Given the description of an element on the screen output the (x, y) to click on. 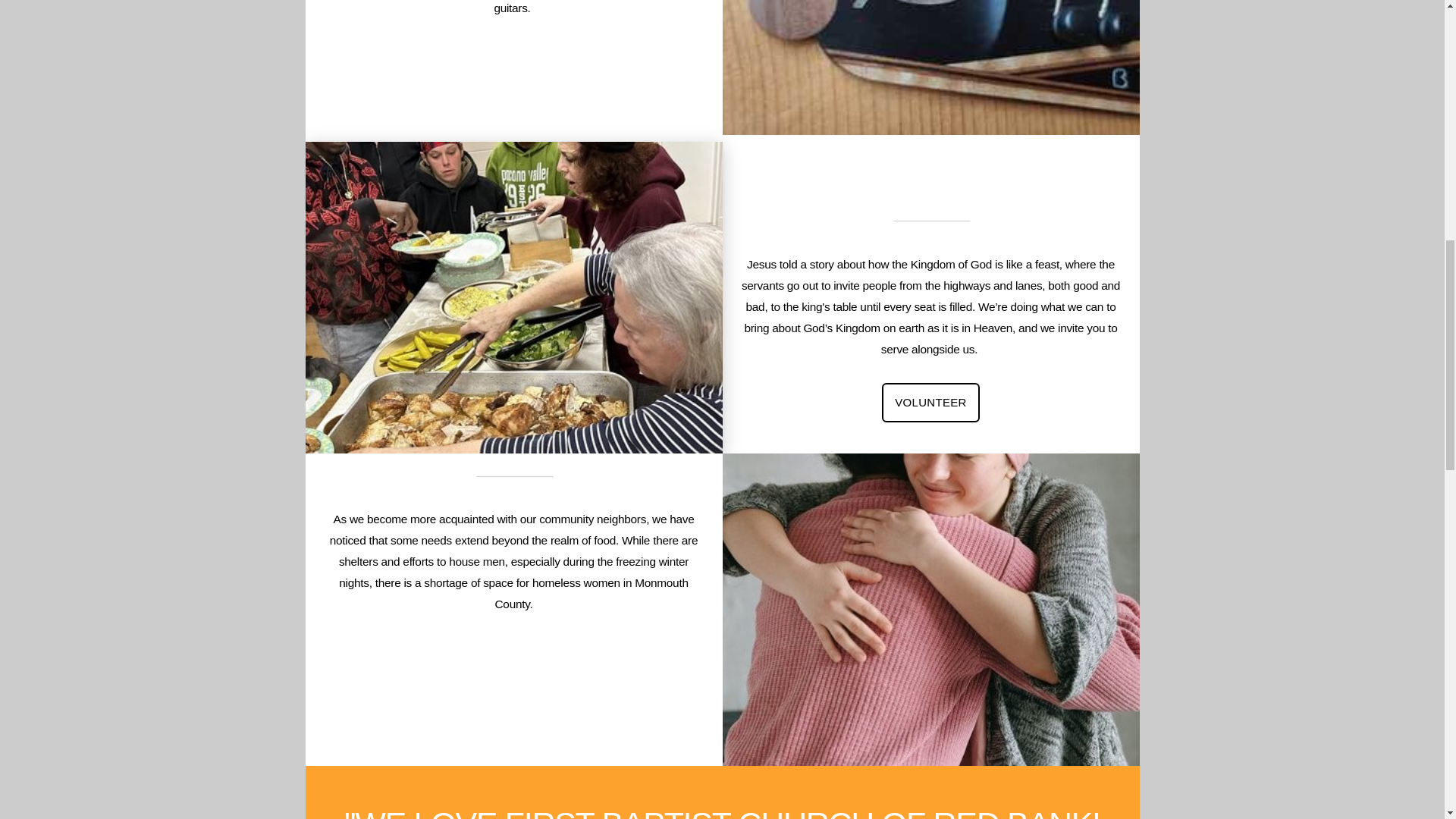
LEARN MORE (512, 678)
VOLUNTEER (930, 401)
